Given the description of an element on the screen output the (x, y) to click on. 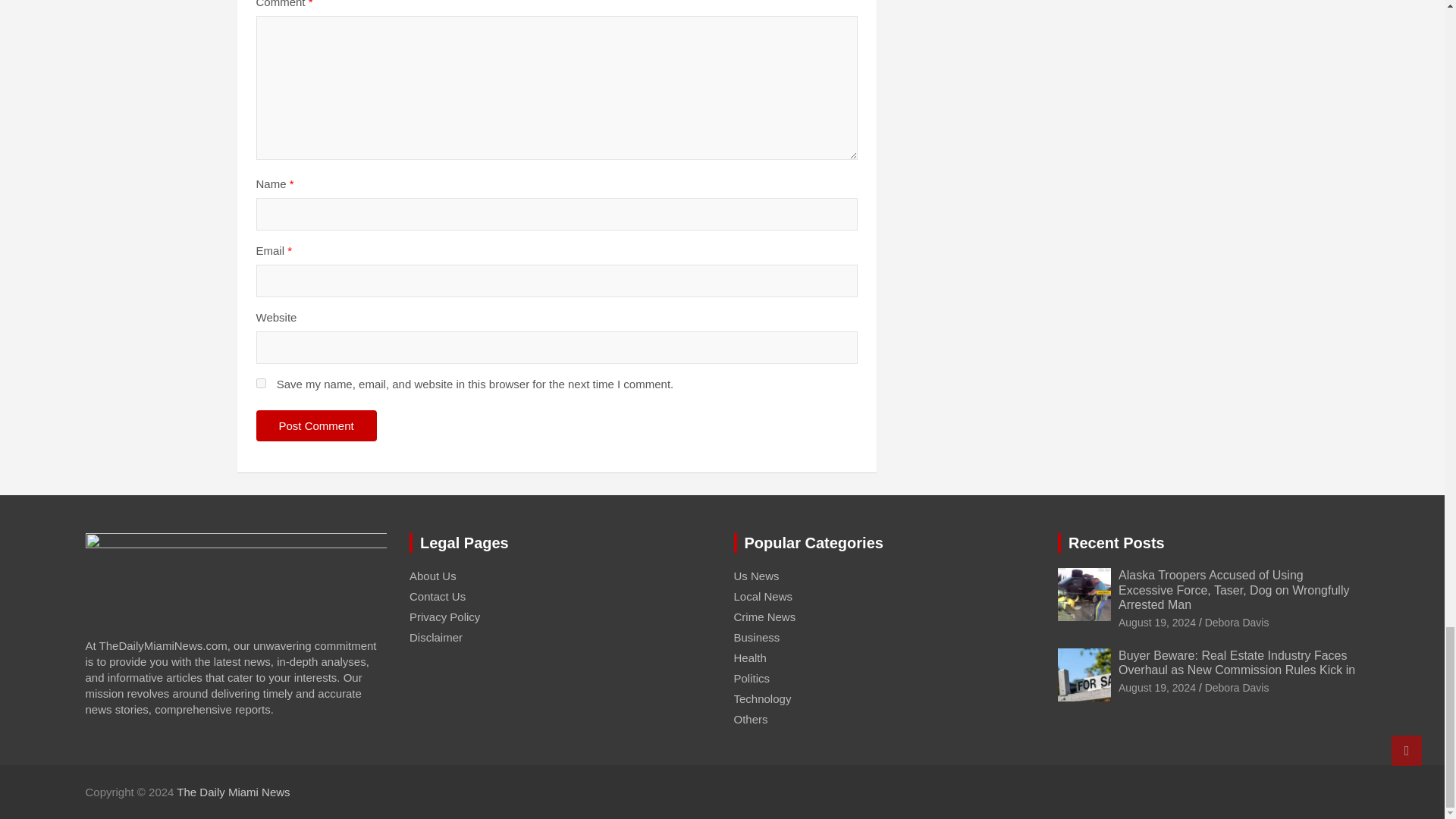
yes (261, 383)
Post Comment (316, 425)
Post Comment (316, 425)
The Daily Miami News (232, 791)
